Given the description of an element on the screen output the (x, y) to click on. 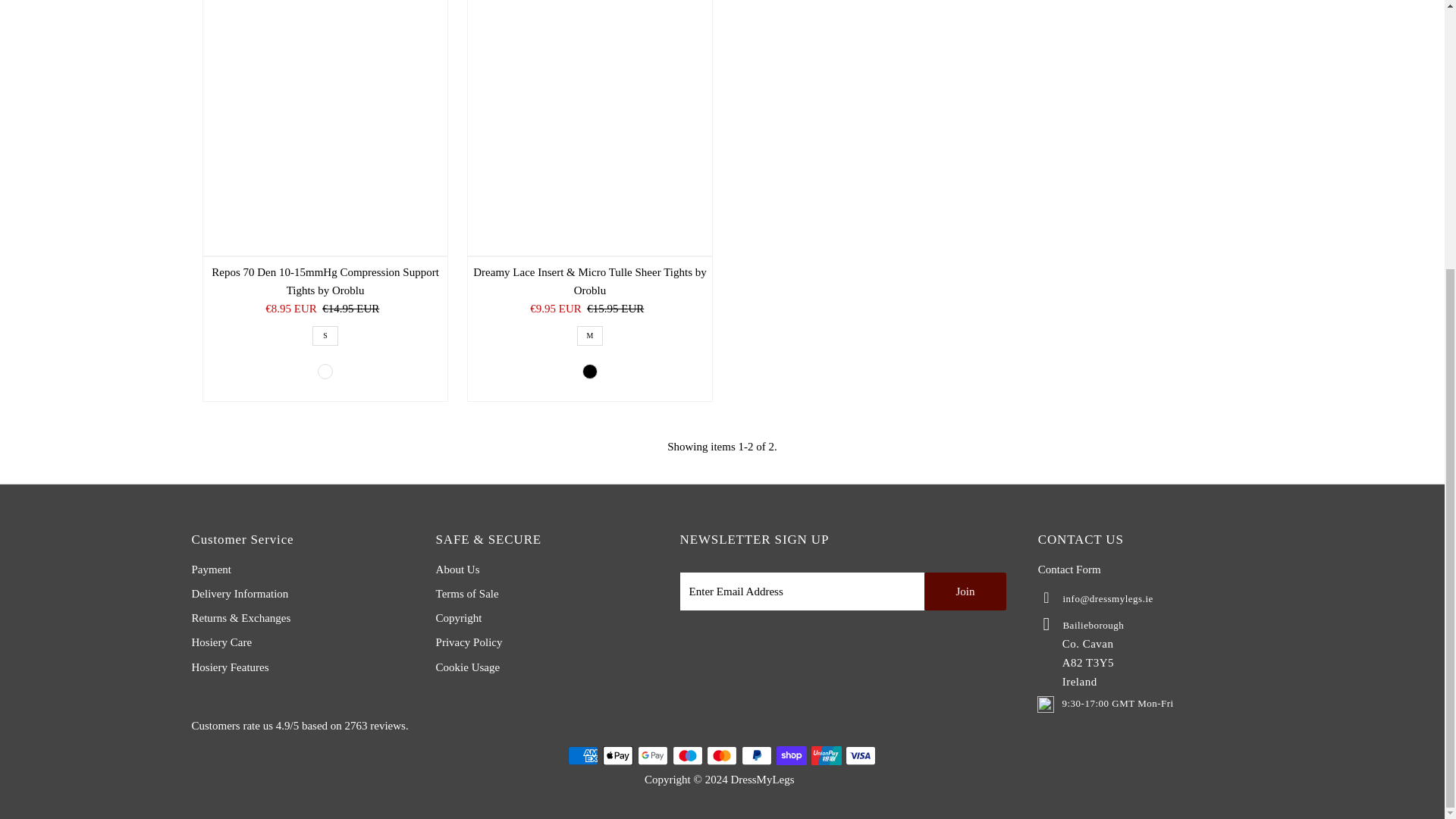
Mastercard (721, 755)
Shop Pay (791, 755)
Union Pay (825, 755)
Join (965, 591)
Google Pay (652, 755)
PayPal (756, 755)
Maestro (687, 755)
Apple Pay (617, 755)
Visa (860, 755)
American Express (582, 755)
